Given the description of an element on the screen output the (x, y) to click on. 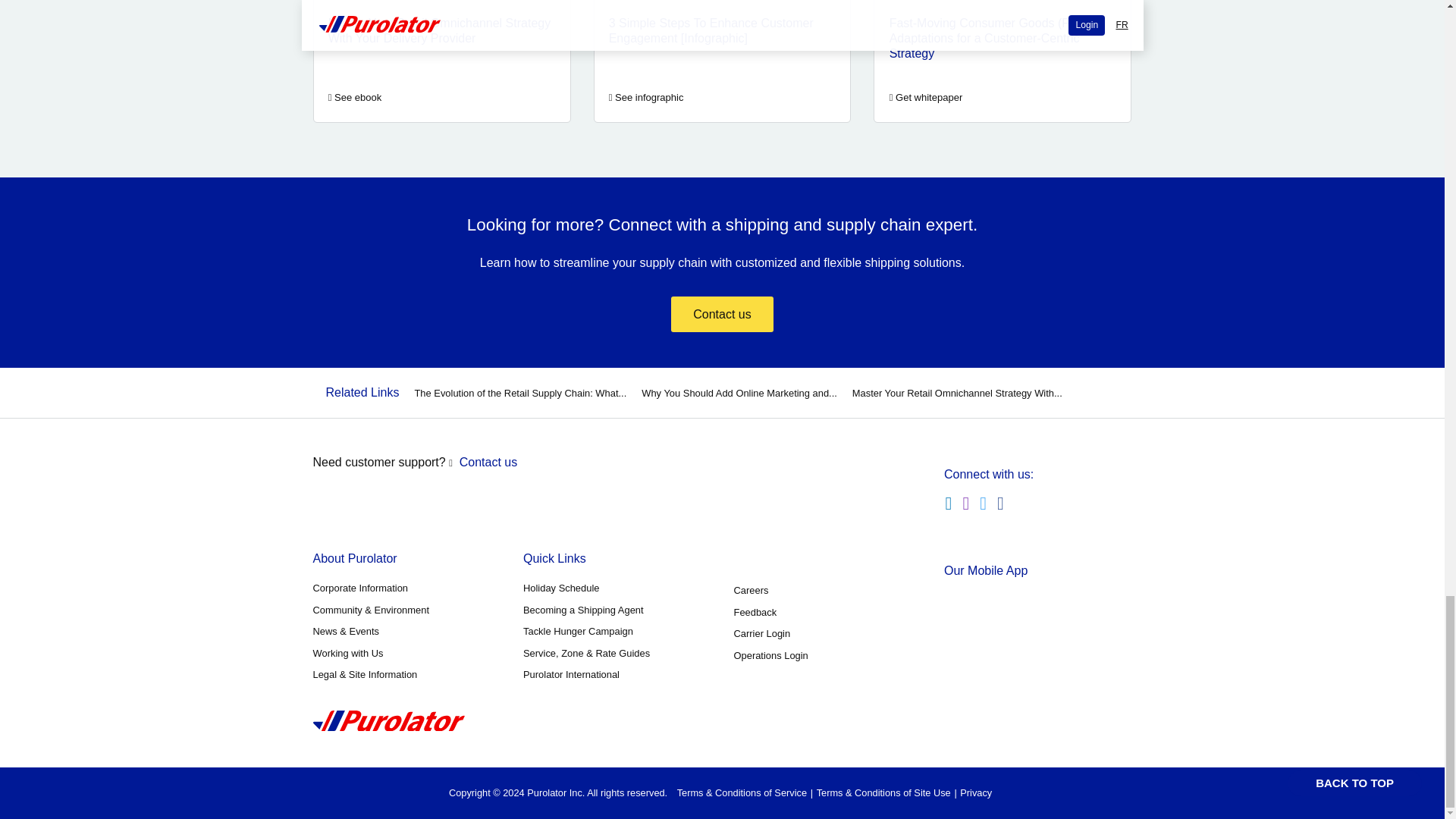
Apple (1004, 606)
Google (1004, 652)
